Given the description of an element on the screen output the (x, y) to click on. 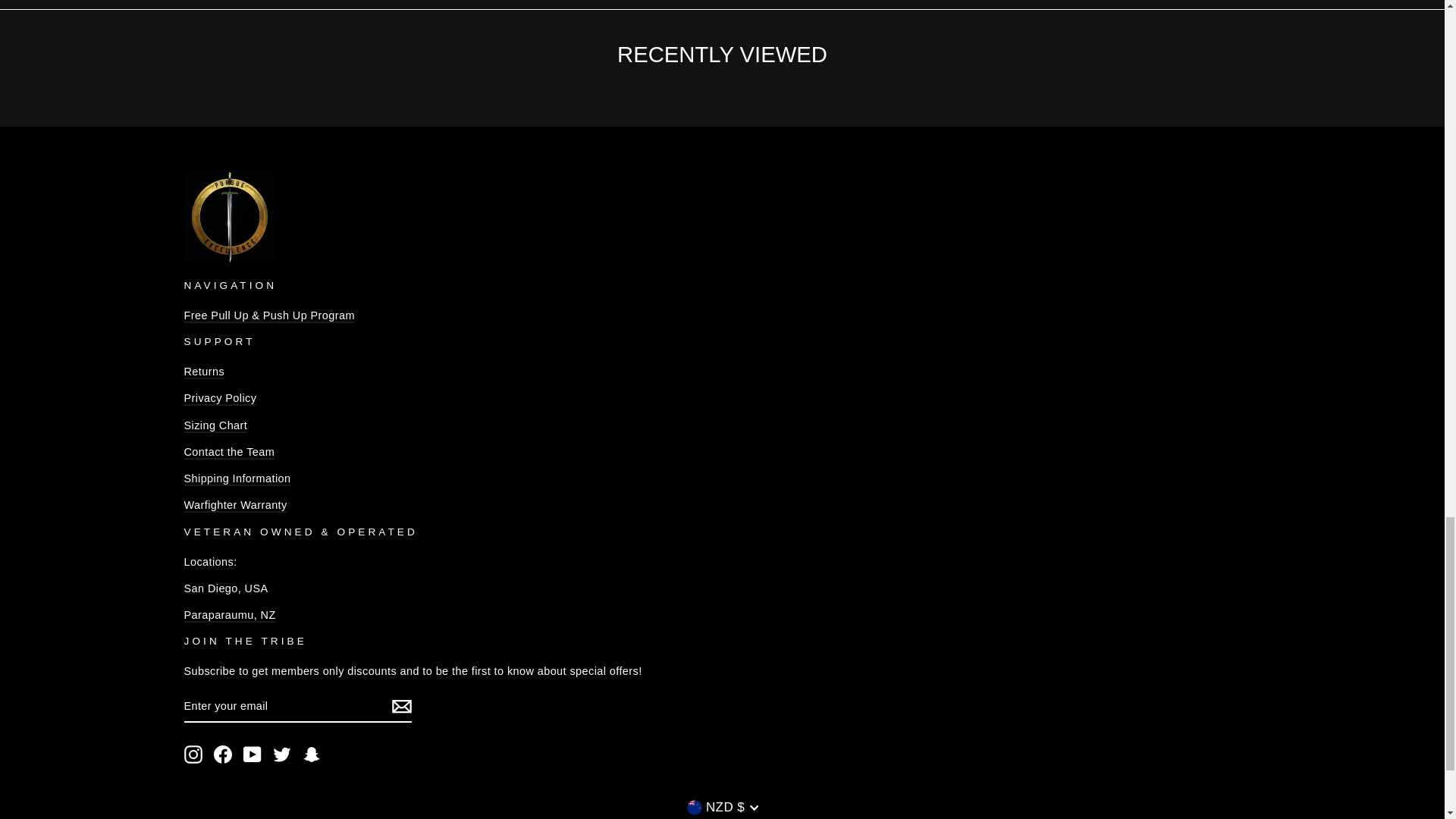
Returns Policy (203, 372)
Warfighter Athletic NZ on Instagram (192, 754)
Contact The Team (229, 452)
Warfighter Athletic NZ on Twitter (282, 754)
Sizing Chart (215, 426)
Warfighter Athletic NZ on Snapchat (310, 754)
Warfighter Athletic NZ on Facebook (222, 754)
Warfighter Warranty (234, 505)
Shipping Information (236, 479)
Privacy Policy (219, 398)
Warfighter Athletic NZ on YouTube (251, 754)
